Given the description of an element on the screen output the (x, y) to click on. 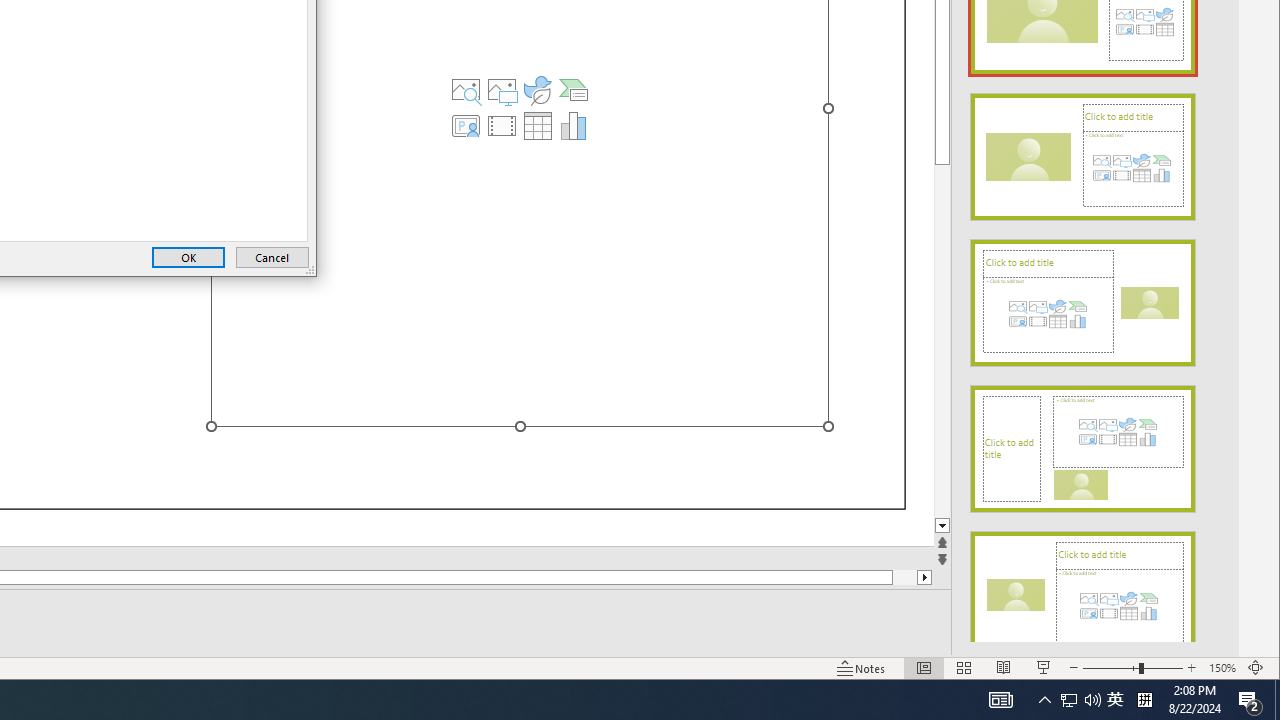
Zoom 150% (1222, 668)
Notification Chevron (1044, 699)
Line down (942, 525)
Class: NetUIImage (1083, 595)
User Promoted Notification Area (1080, 699)
Insert Chart (574, 125)
Insert Cameo (466, 125)
OK (188, 257)
Show desktop (1277, 699)
